Given the description of an element on the screen output the (x, y) to click on. 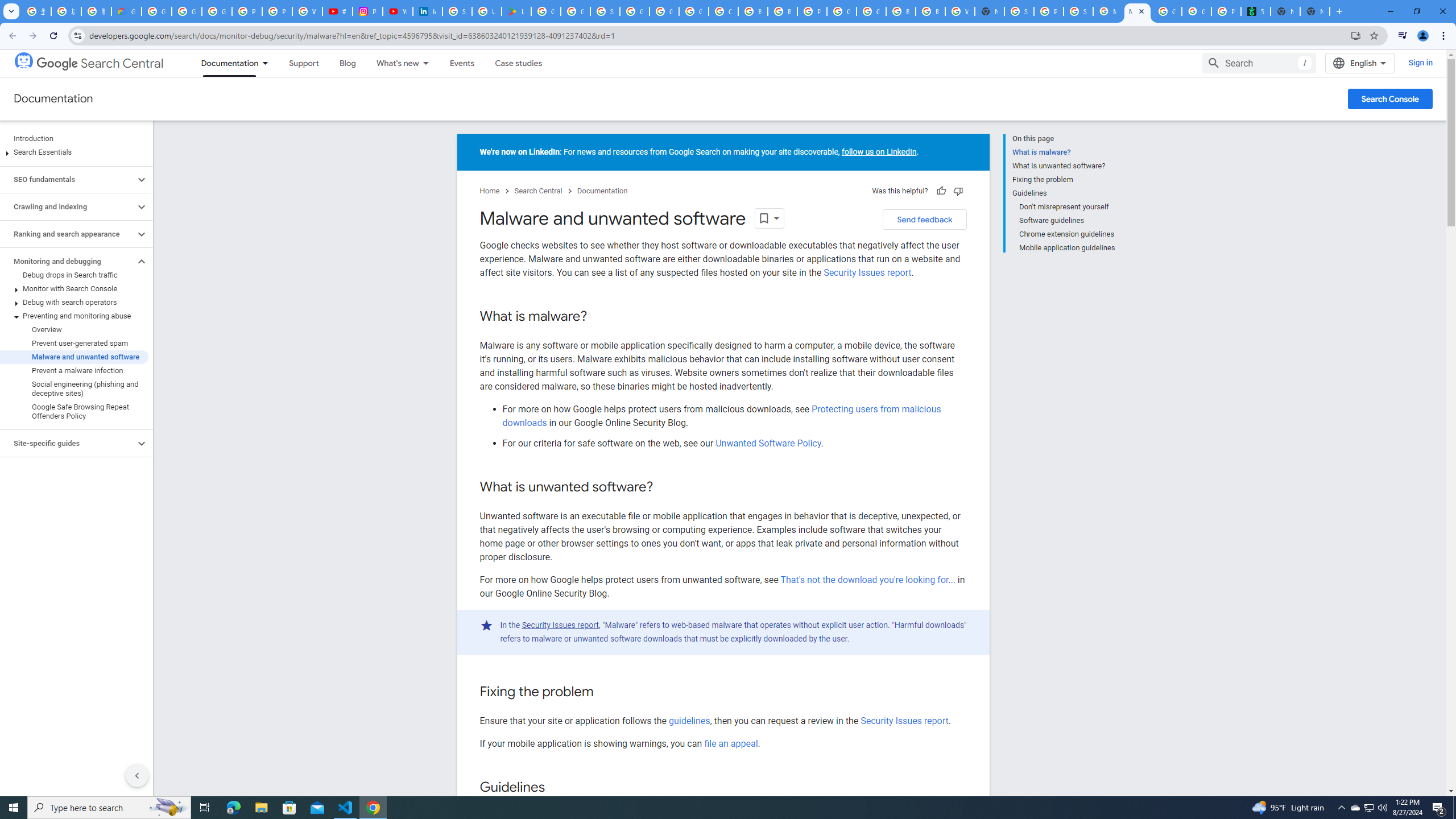
Unwanted Software Policy (767, 443)
guidelines (689, 720)
Monitor with Search Console (74, 288)
Dropdown menu for What's new (429, 62)
Copy link to this section: What is unwanted software? (663, 487)
Site-specific guides (67, 443)
Malware and unwanted software (74, 356)
Copy link to this section: Fixing the problem (603, 692)
What's new (392, 62)
Debug with search operators (74, 302)
Google Workspace - Specific Terms (575, 11)
Monitoring and debugging (67, 261)
